Given the description of an element on the screen output the (x, y) to click on. 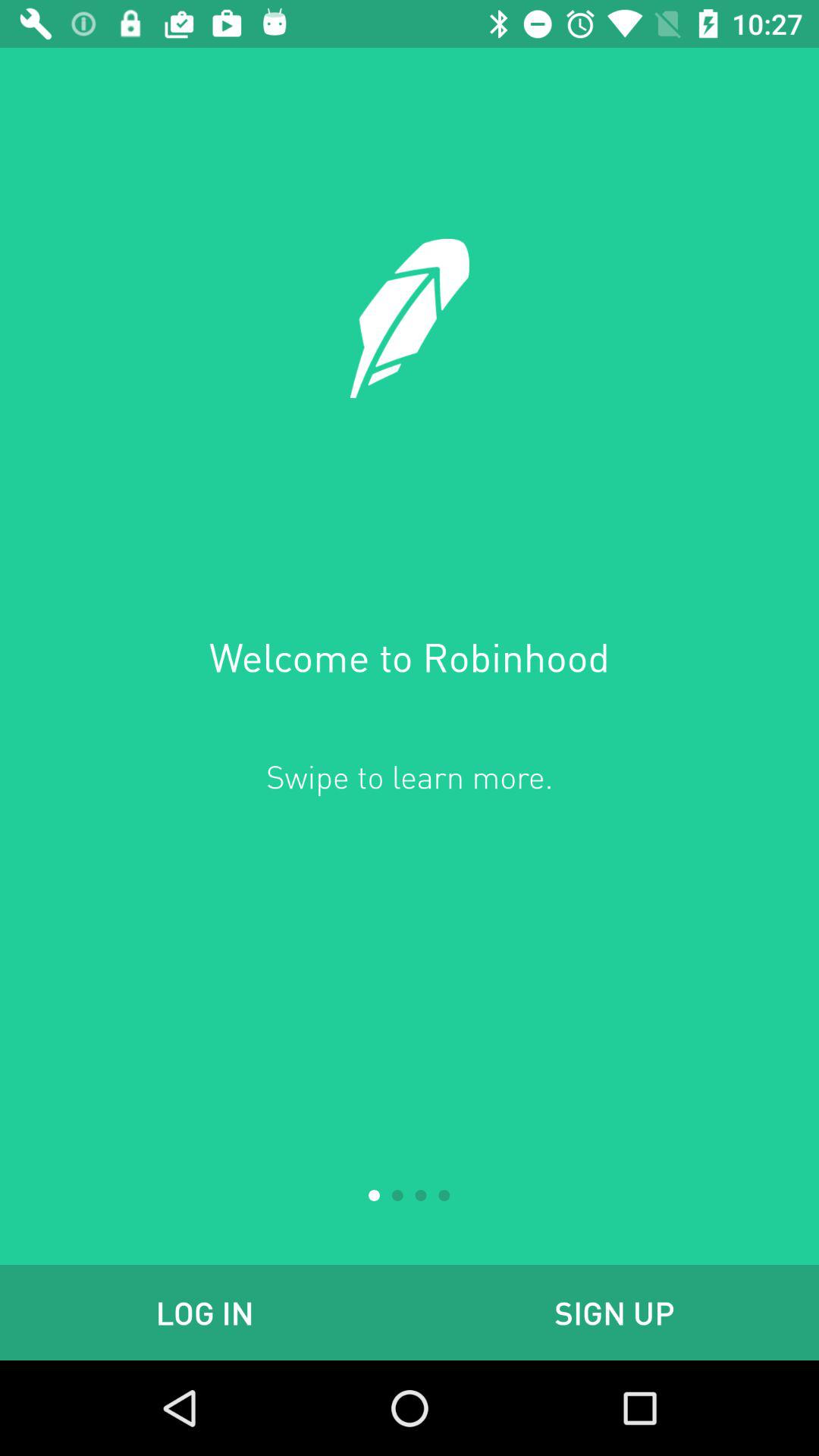
launch sign up at the bottom right corner (614, 1312)
